Given the description of an element on the screen output the (x, y) to click on. 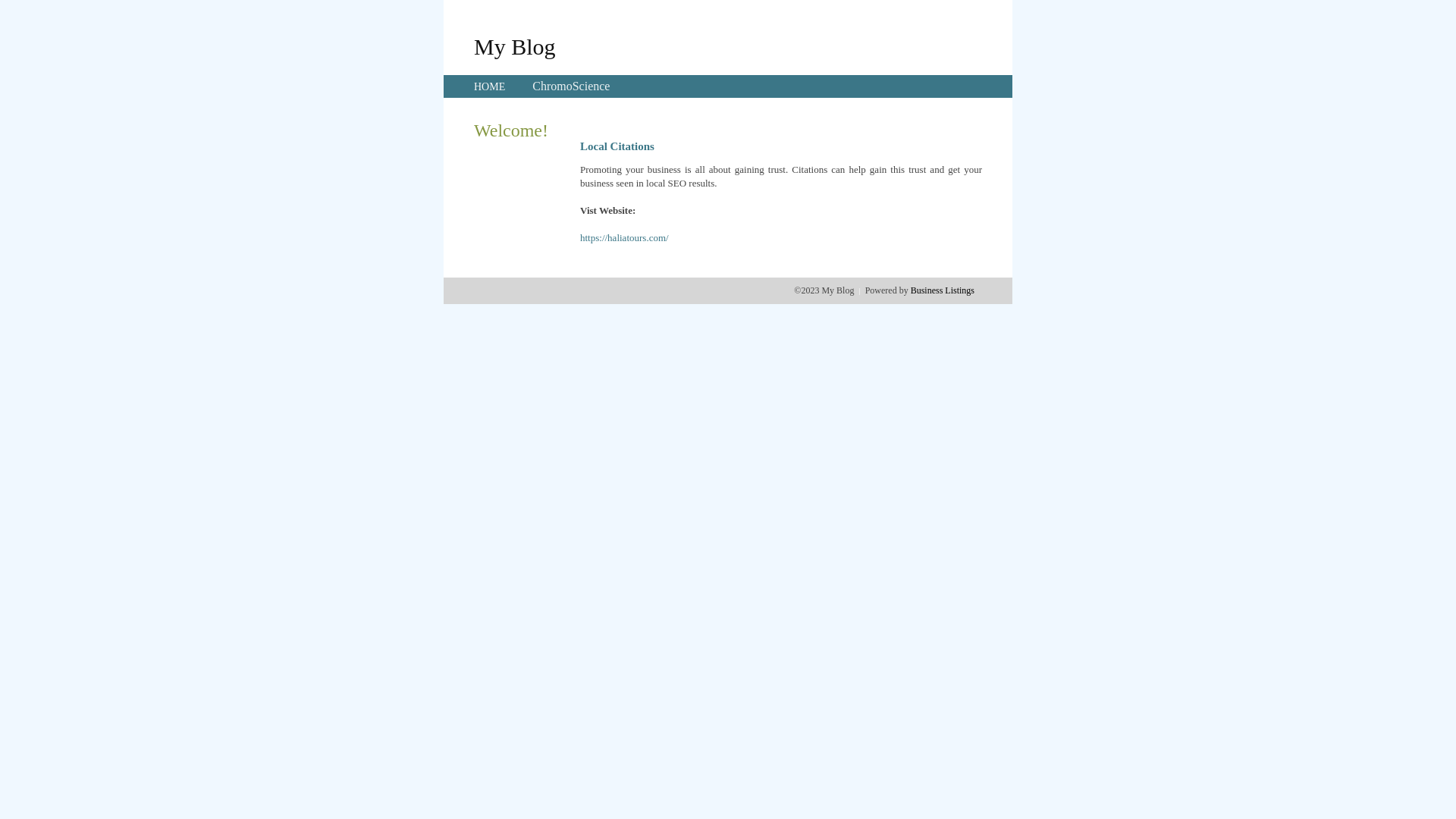
My Blog Element type: text (514, 46)
ChromoScience Element type: text (570, 85)
Business Listings Element type: text (942, 290)
HOME Element type: text (489, 86)
https://haliatours.com/ Element type: text (624, 237)
